Given the description of an element on the screen output the (x, y) to click on. 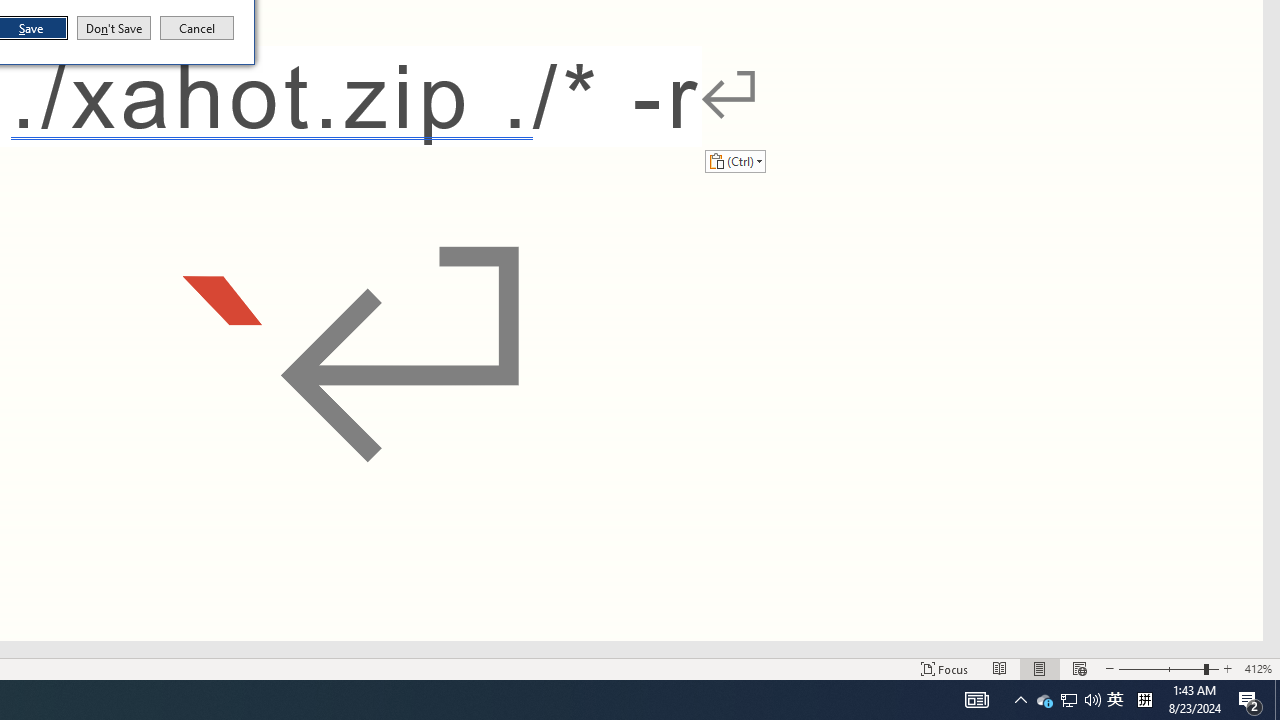
Q2790: 100% (1092, 699)
AutomationID: 4105 (976, 699)
Zoom 412% (1044, 699)
Don't Save (1258, 668)
